Given the description of an element on the screen output the (x, y) to click on. 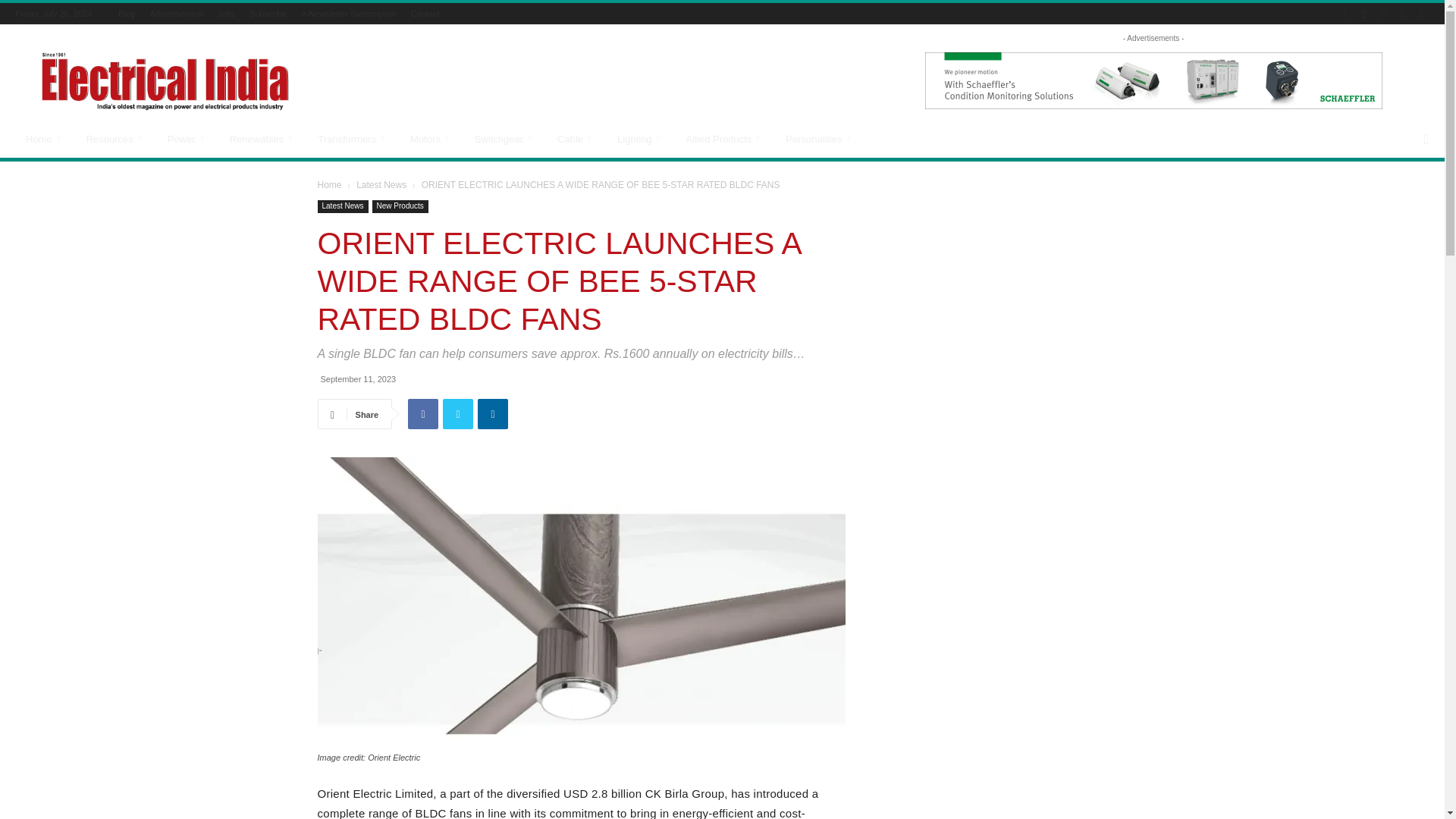
Linkedin (1382, 14)
Twitter (1401, 14)
Electrical India (164, 79)
Facebook (1345, 14)
Youtube (1420, 14)
Instagram (1364, 14)
